Given the description of an element on the screen output the (x, y) to click on. 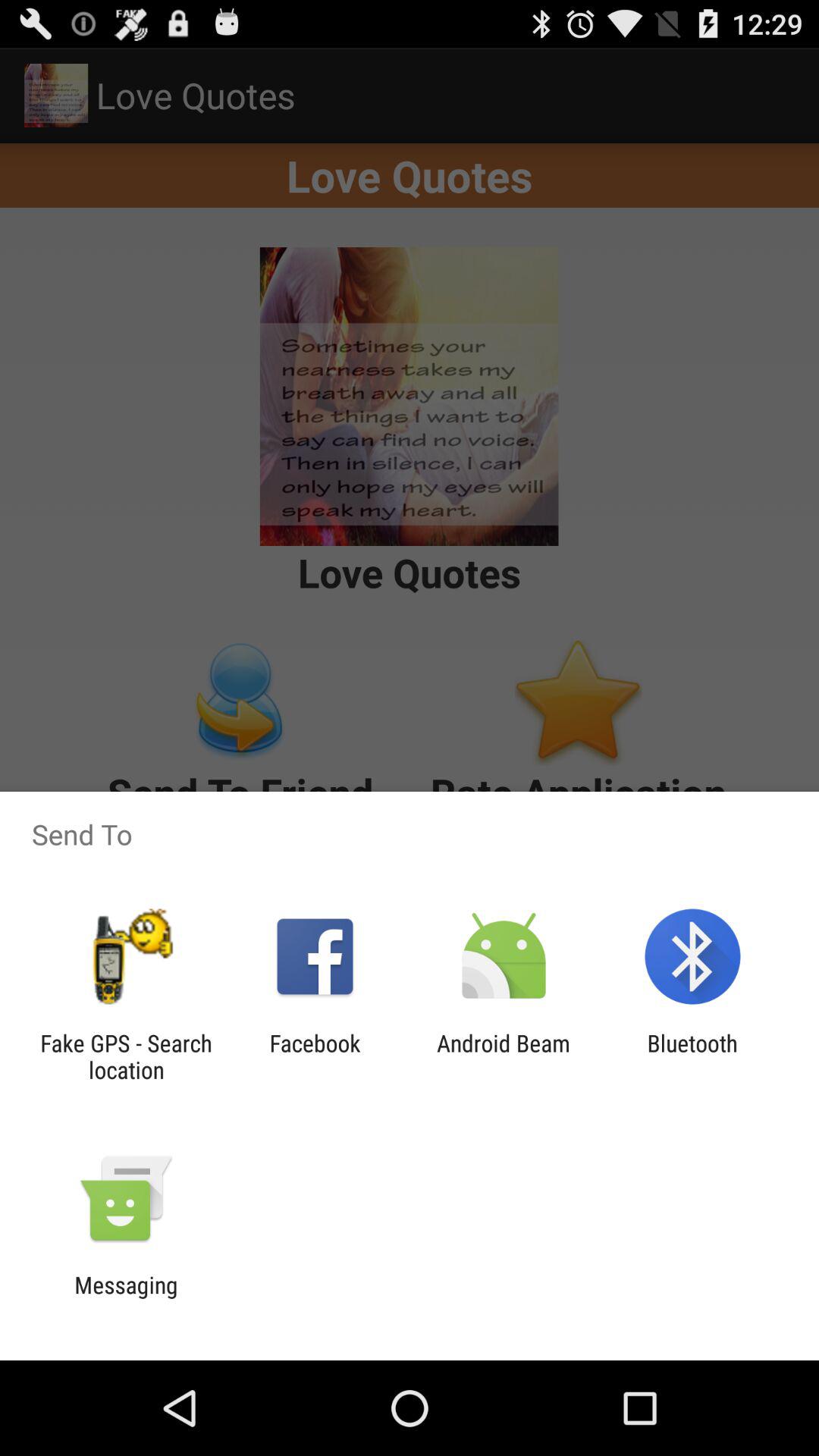
choose app next to android beam item (692, 1056)
